Given the description of an element on the screen output the (x, y) to click on. 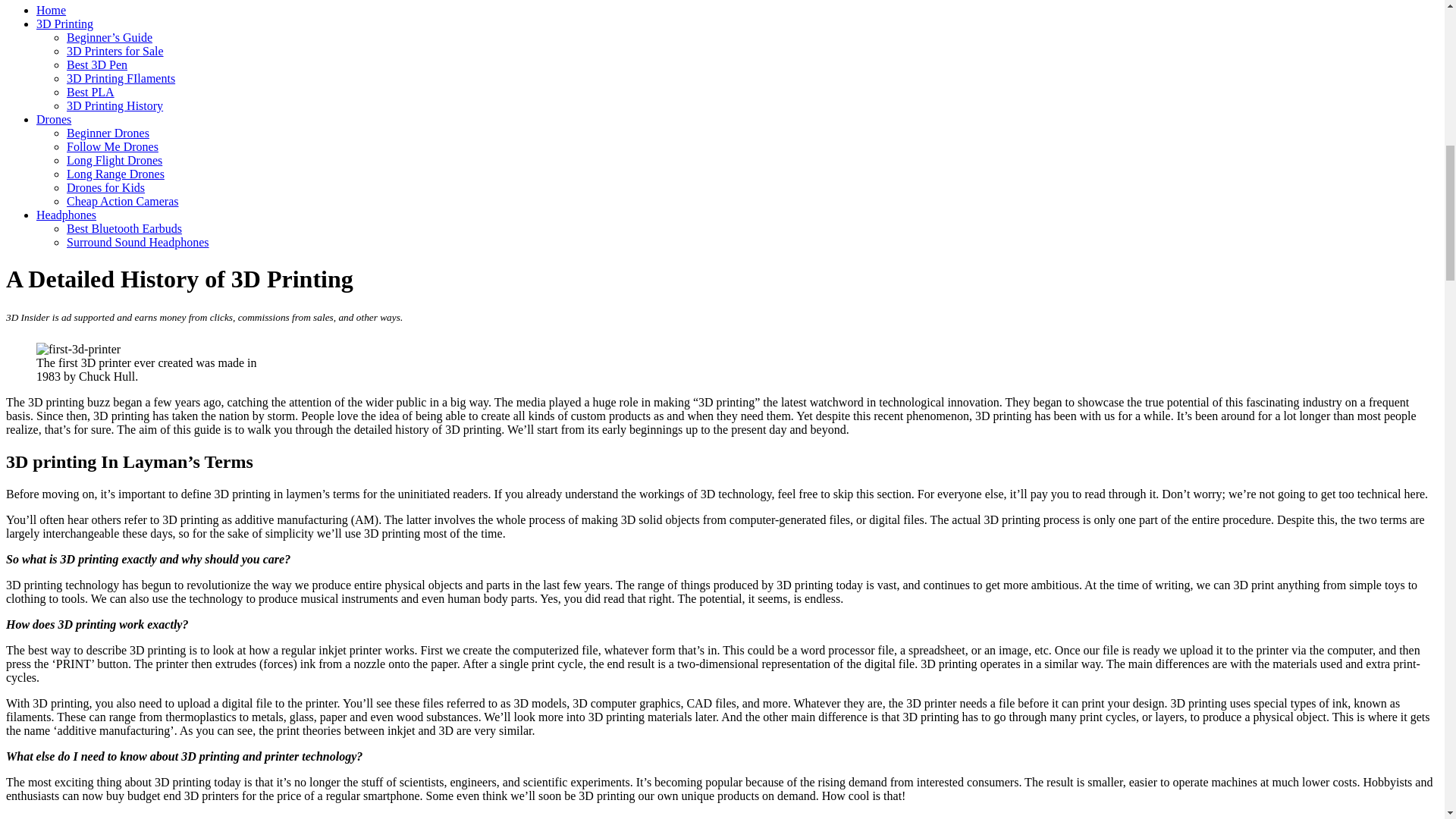
Home (50, 10)
Beginner Drones (107, 132)
Long Range Drones (115, 173)
Best 3D Pen (97, 64)
3D Printing FIlaments (120, 78)
Best PLA (90, 91)
Drones (53, 119)
Follow Me Drones (112, 146)
3D Printing (64, 23)
3D Printers for Sale (114, 51)
